Given the description of an element on the screen output the (x, y) to click on. 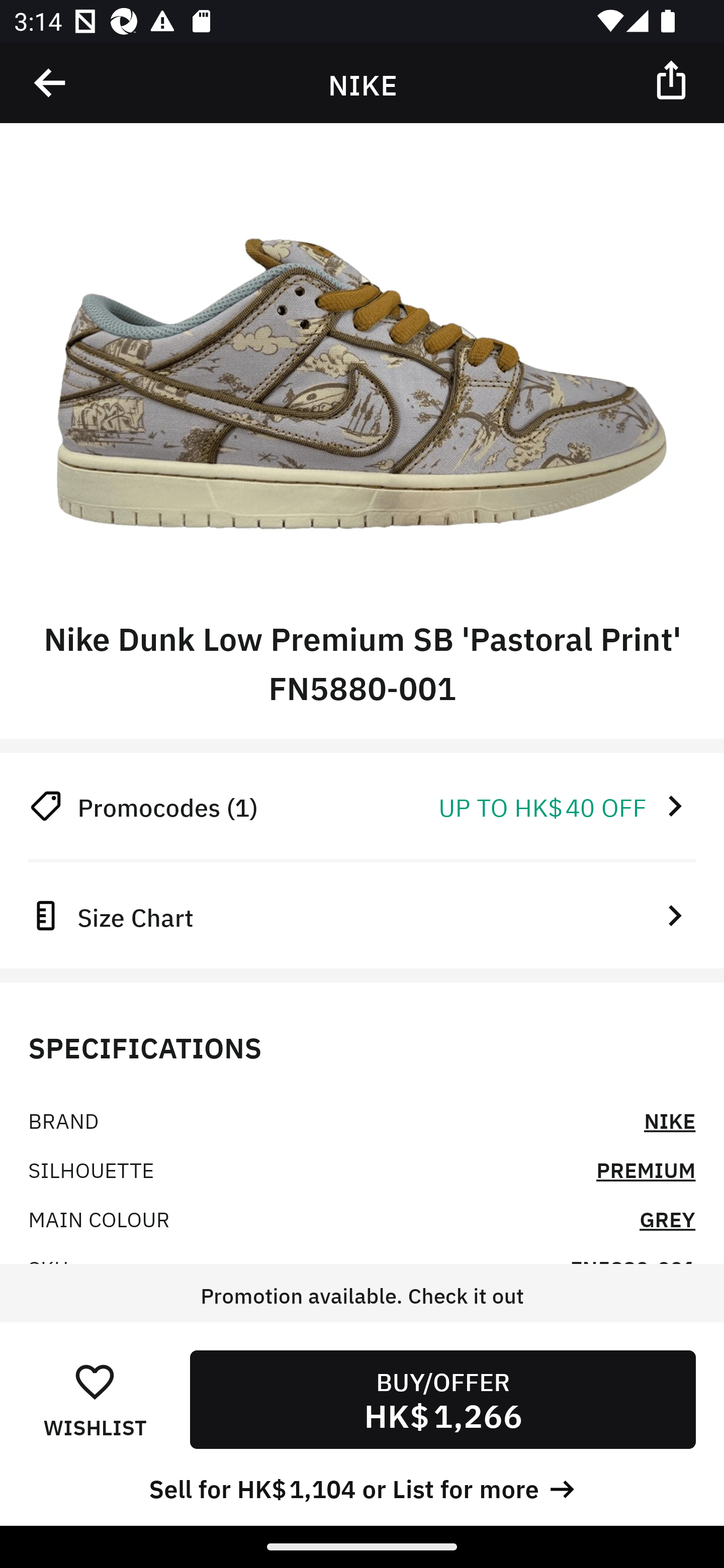
 (50, 83)
 (672, 79)
Promocodes (1) UP TO HK$ 40 OFF  (361, 805)
Size Chart  (361, 914)
NIKE (669, 1119)
PREMIUM (645, 1168)
GREY (667, 1218)
BUY/OFFER HK$ 1,266 (442, 1399)
󰋕 (94, 1380)
Sell for HK$ 1,104 or List for more (361, 1486)
